Given the description of an element on the screen output the (x, y) to click on. 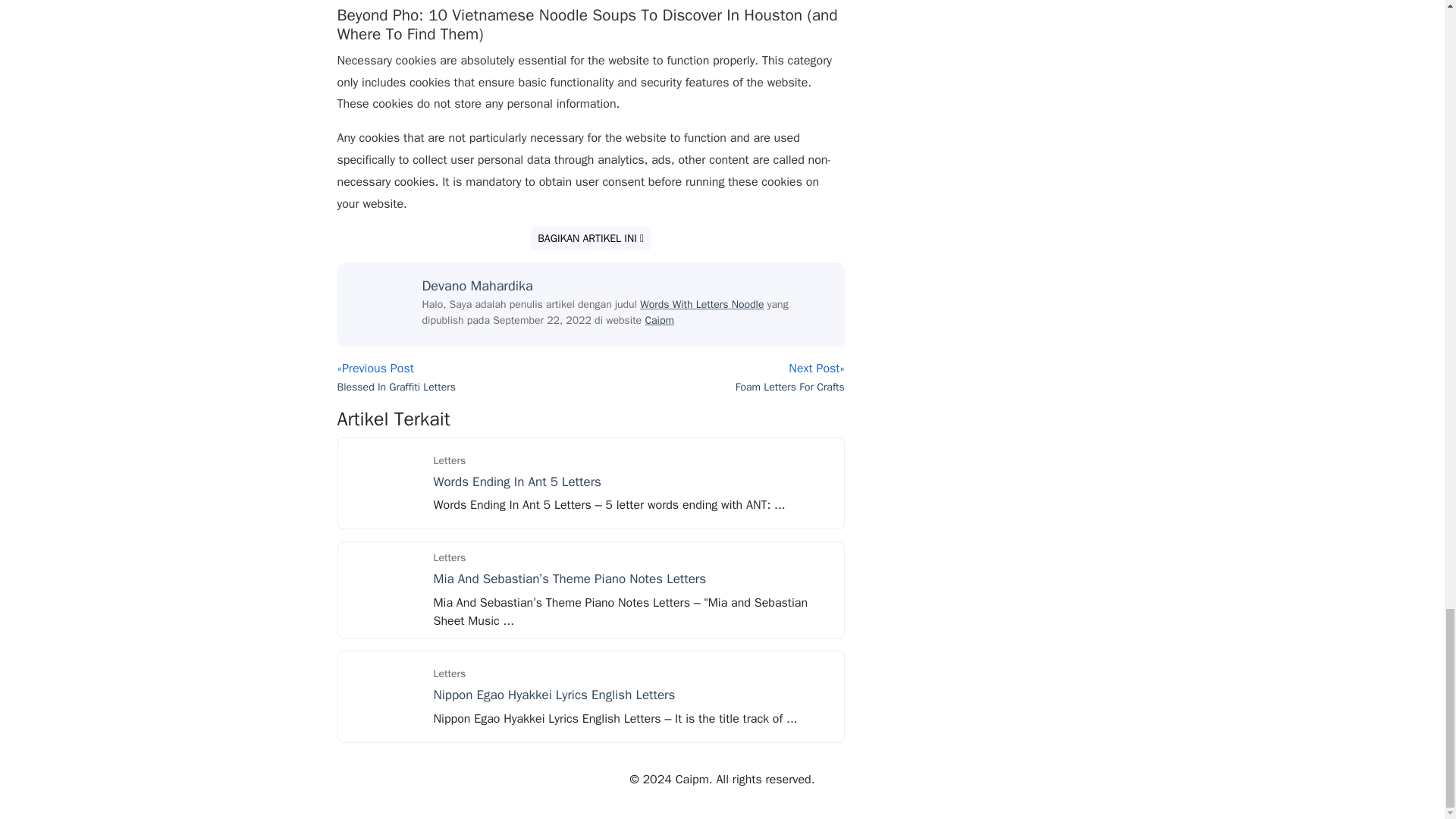
Words With Letters Noodle (701, 304)
Caipm (659, 319)
Letters (449, 673)
Letters (449, 460)
Devano Mahardika (477, 285)
Nippon Egao Hyakkei Lyrics English Letters (384, 695)
Words Ending In Ant 5 Letters (517, 481)
Words With Letters Noodle (701, 304)
Letters (449, 557)
Nippon Egao Hyakkei Lyrics English Letters (554, 694)
